Given the description of an element on the screen output the (x, y) to click on. 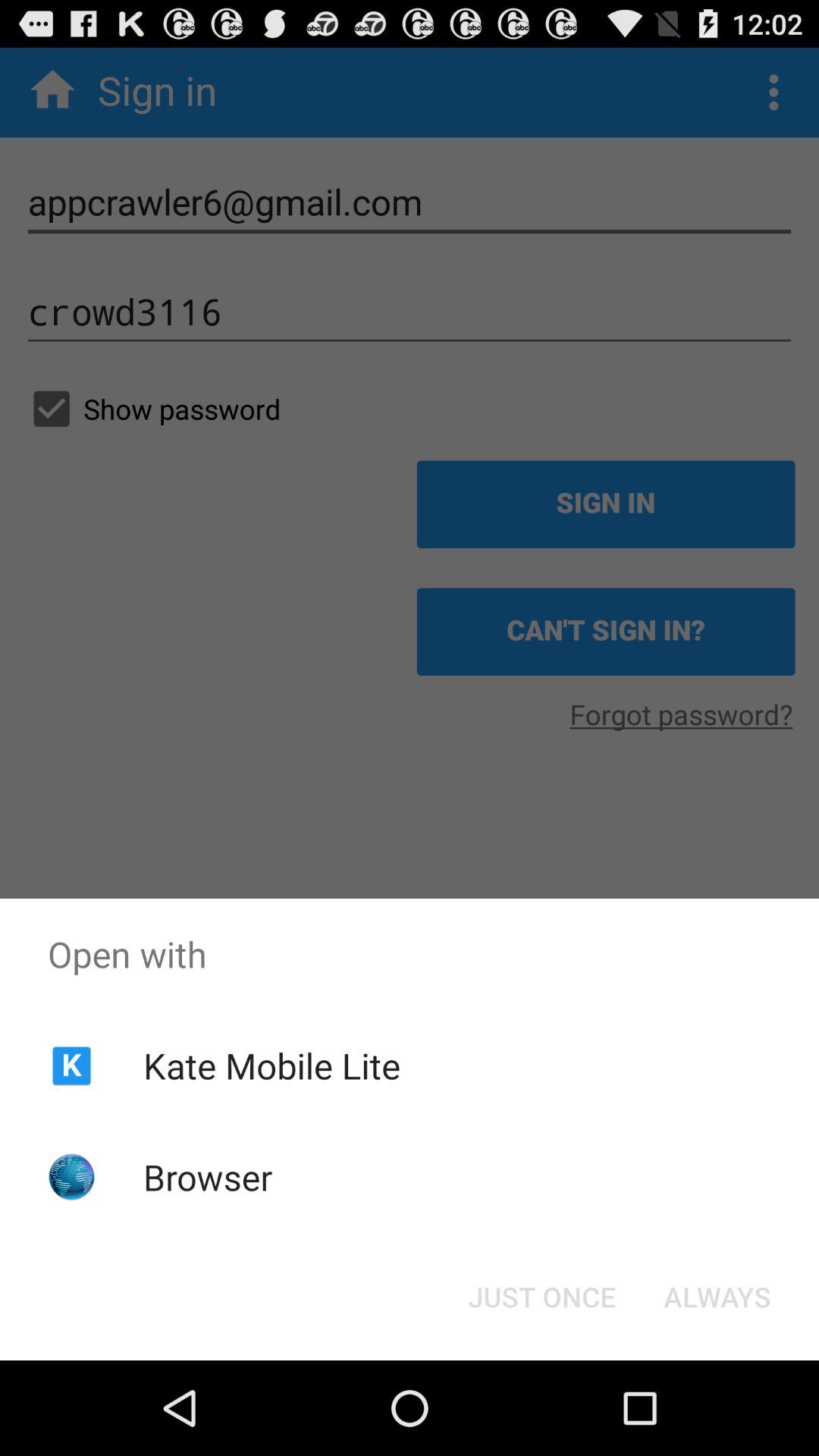
select item to the right of just once item (717, 1296)
